Given the description of an element on the screen output the (x, y) to click on. 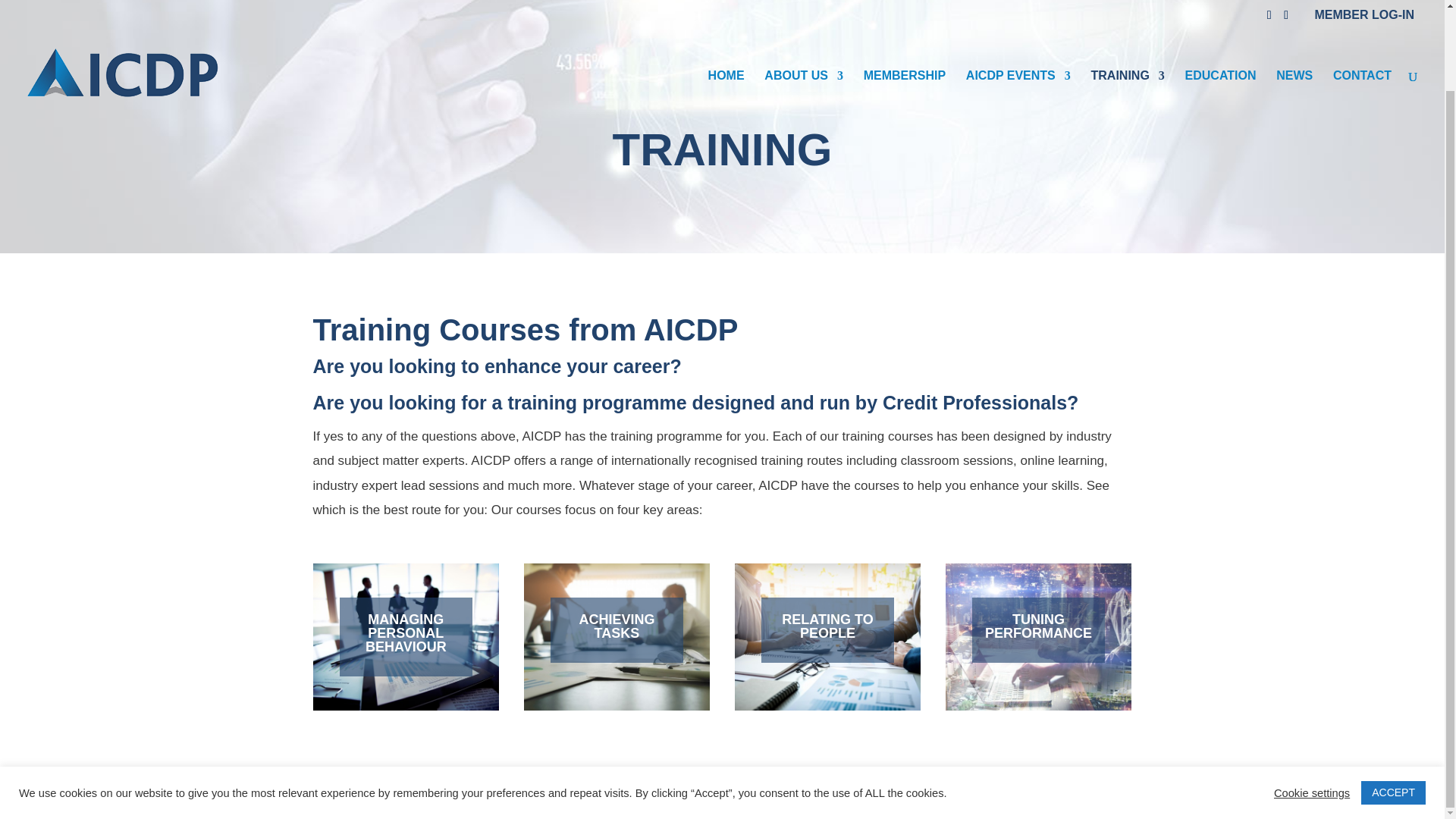
NEWS (1294, 15)
HOME (725, 15)
ABOUT US (803, 15)
TRAINING (1127, 15)
Cookie settings (1311, 701)
AICDP EVENTS (1018, 15)
CONTACT (1362, 15)
MEMBERSHIP (903, 15)
EDUCATION (1220, 15)
ACCEPT (1393, 701)
